Given the description of an element on the screen output the (x, y) to click on. 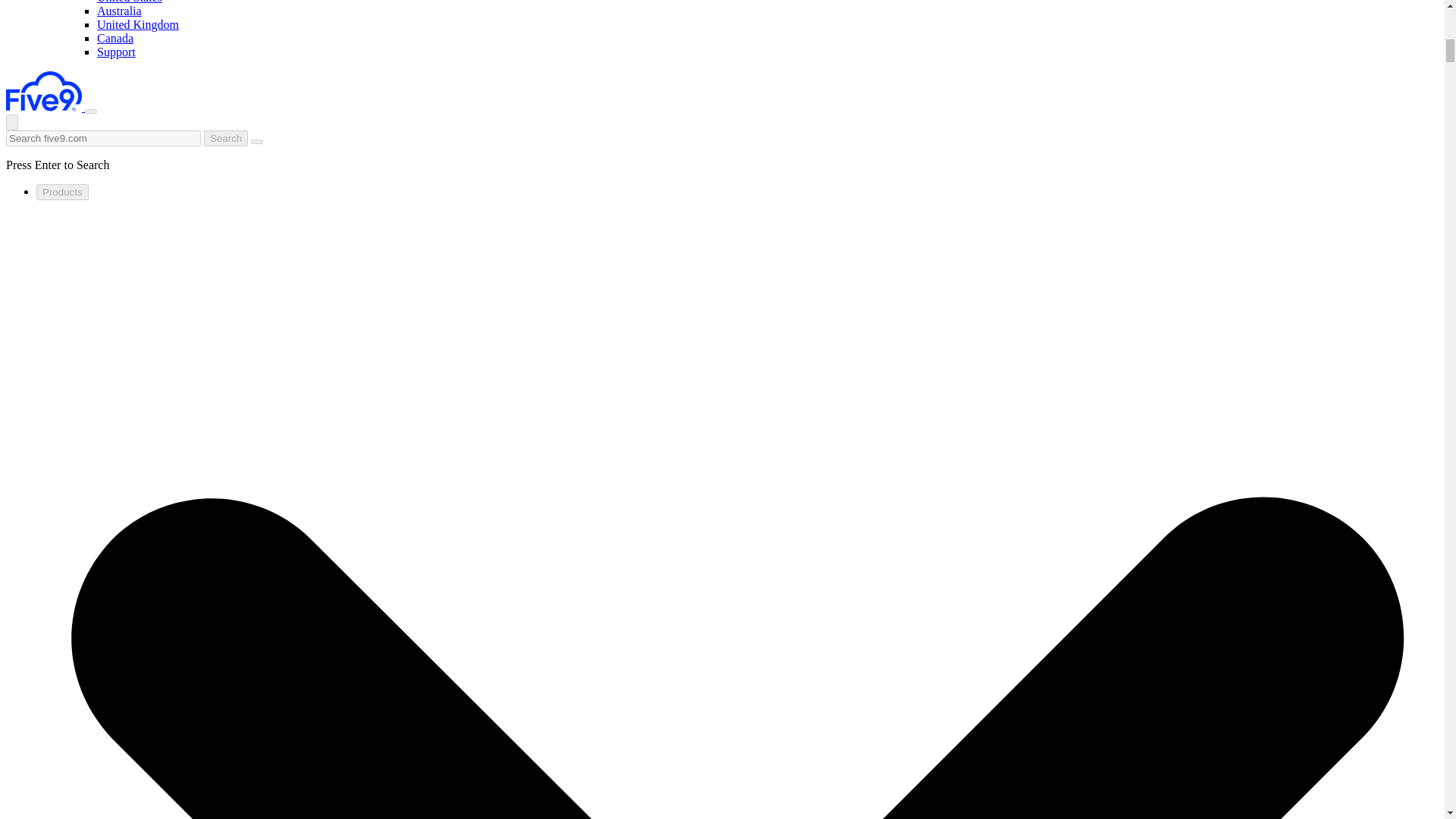
Enter the terms you wish to search for. (102, 138)
United States (129, 2)
Search (225, 138)
United Kingdom (138, 24)
Australia (119, 10)
Support (116, 51)
Products (62, 191)
Search (225, 138)
Canada (115, 38)
